Given the description of an element on the screen output the (x, y) to click on. 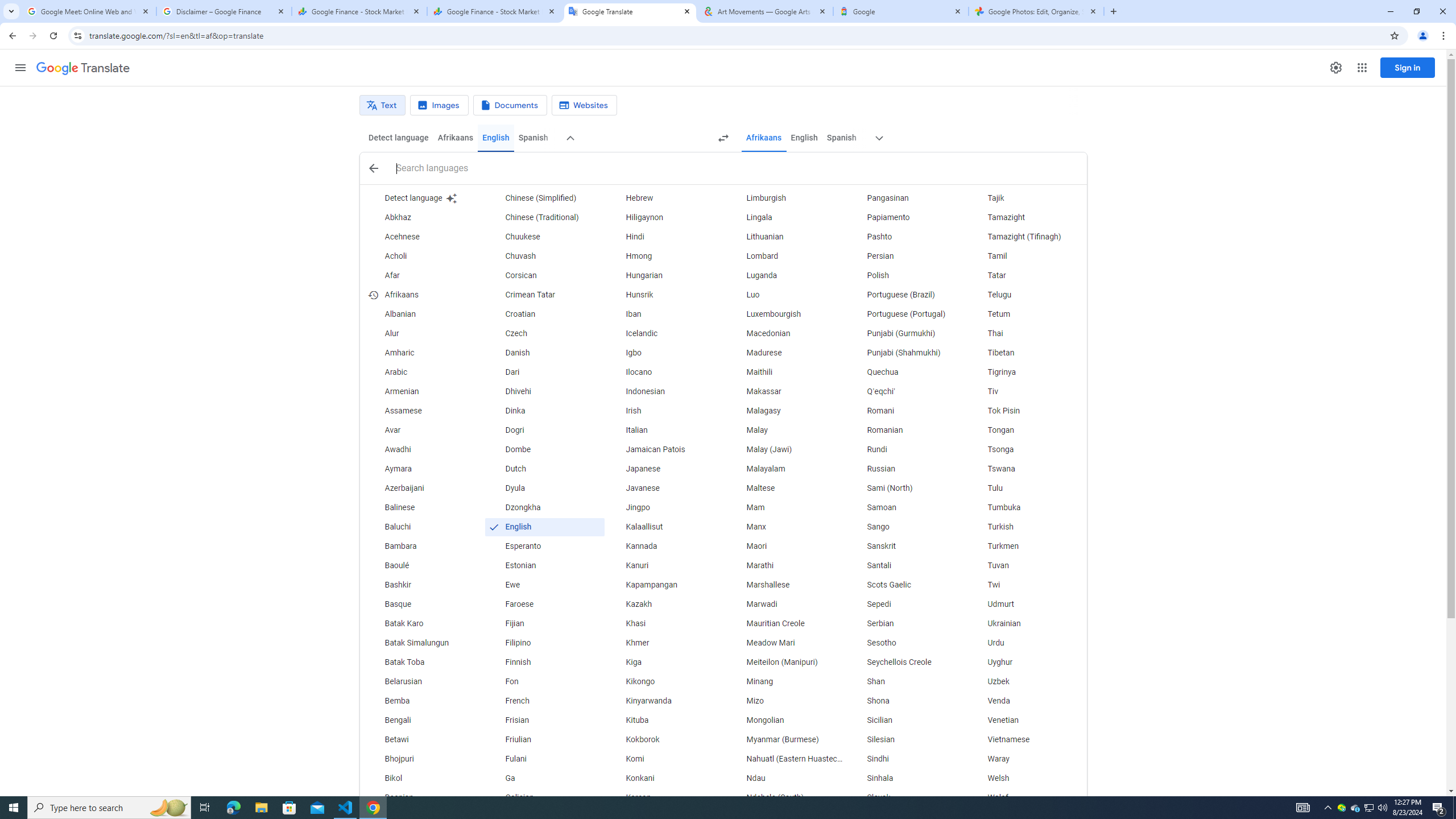
Tiv (1026, 391)
Ewe (544, 584)
Batak Simalungun (423, 642)
Acholi (423, 256)
Sanskrit (905, 546)
Luganda (785, 275)
Jingpo (665, 507)
Ga (544, 778)
Turkish (1026, 527)
